Given the description of an element on the screen output the (x, y) to click on. 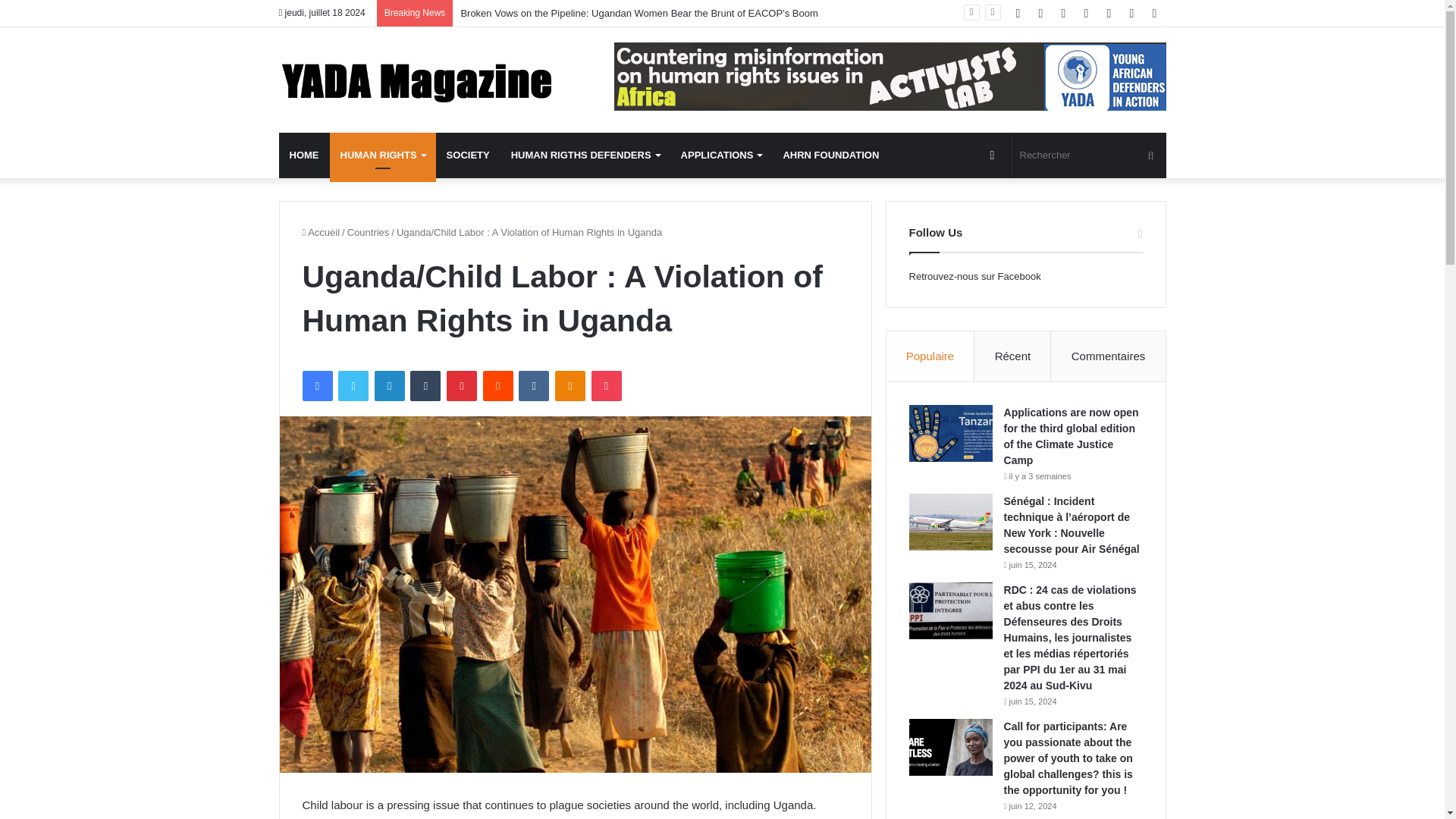
HOME (304, 155)
Pinterest (461, 386)
HUMAN RIGHTS (382, 155)
AHRN FOUNDATION (830, 155)
Tumblr (425, 386)
YADA Magazine (419, 79)
APPLICATIONS (721, 155)
SOCIETY (467, 155)
Facebook (316, 386)
Odnoklassniki (569, 386)
Reddit (498, 386)
Twitter (352, 386)
VKontakte (533, 386)
Linkedin (389, 386)
Accueil (320, 232)
